Given the description of an element on the screen output the (x, y) to click on. 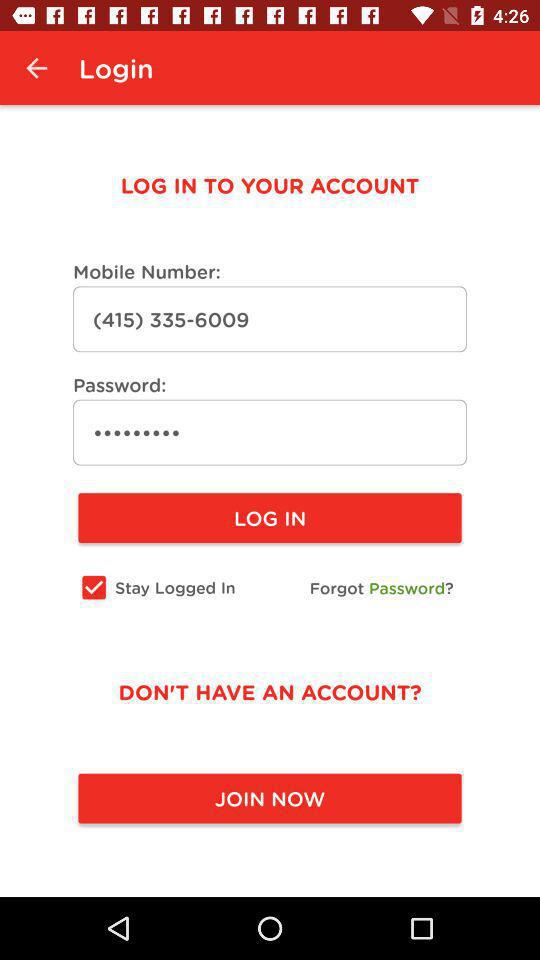
select login button which is above stay logged in (269, 517)
select the text box which says mobile number (269, 319)
